Given the description of an element on the screen output the (x, y) to click on. 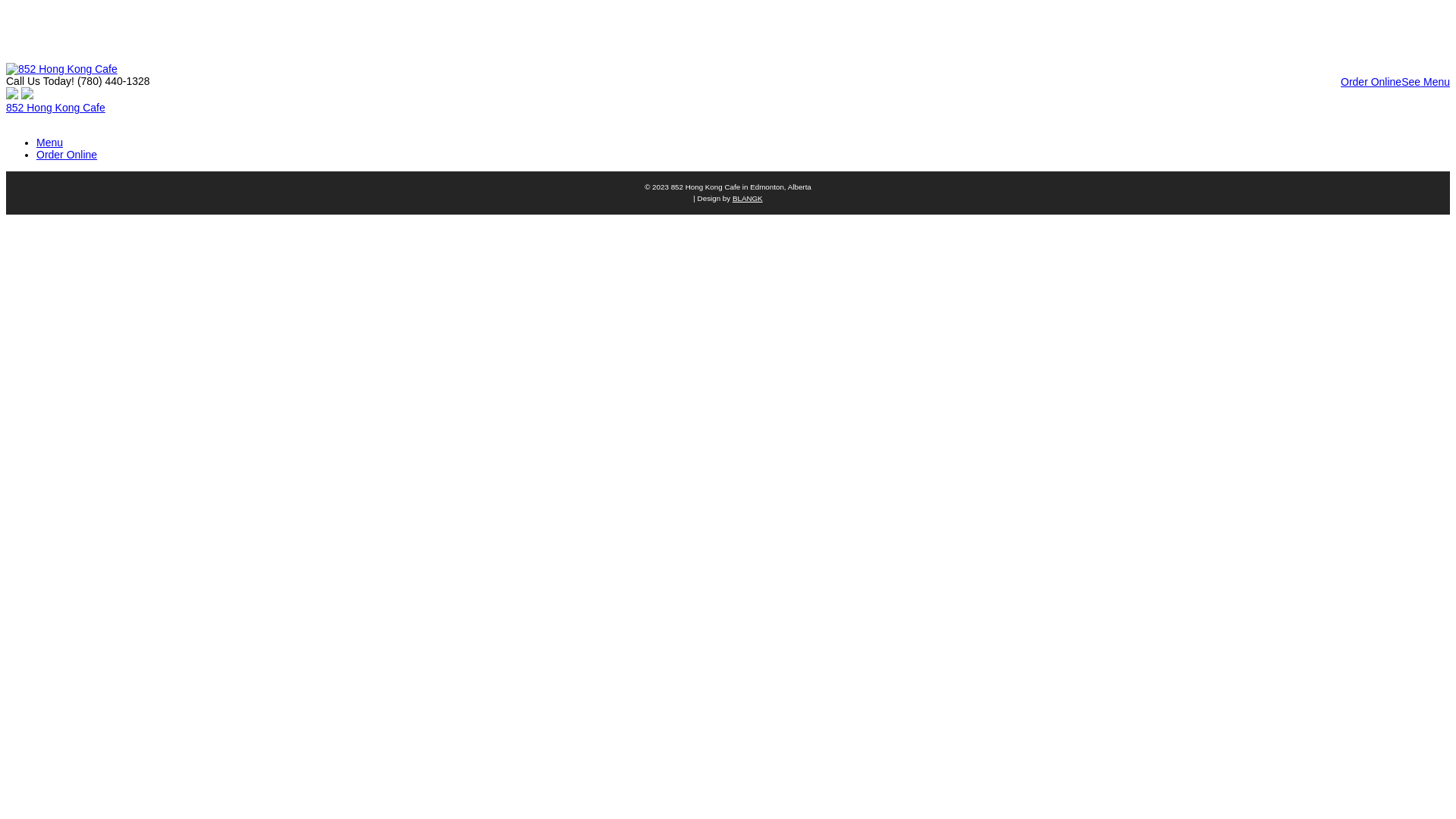
Order Online Element type: text (1370, 81)
See Menu Element type: text (1425, 81)
BLANGK Element type: text (747, 198)
852 Hong Kong Cafe Element type: text (55, 107)
Order Online Element type: text (66, 154)
Menu Element type: text (49, 142)
